Given the description of an element on the screen output the (x, y) to click on. 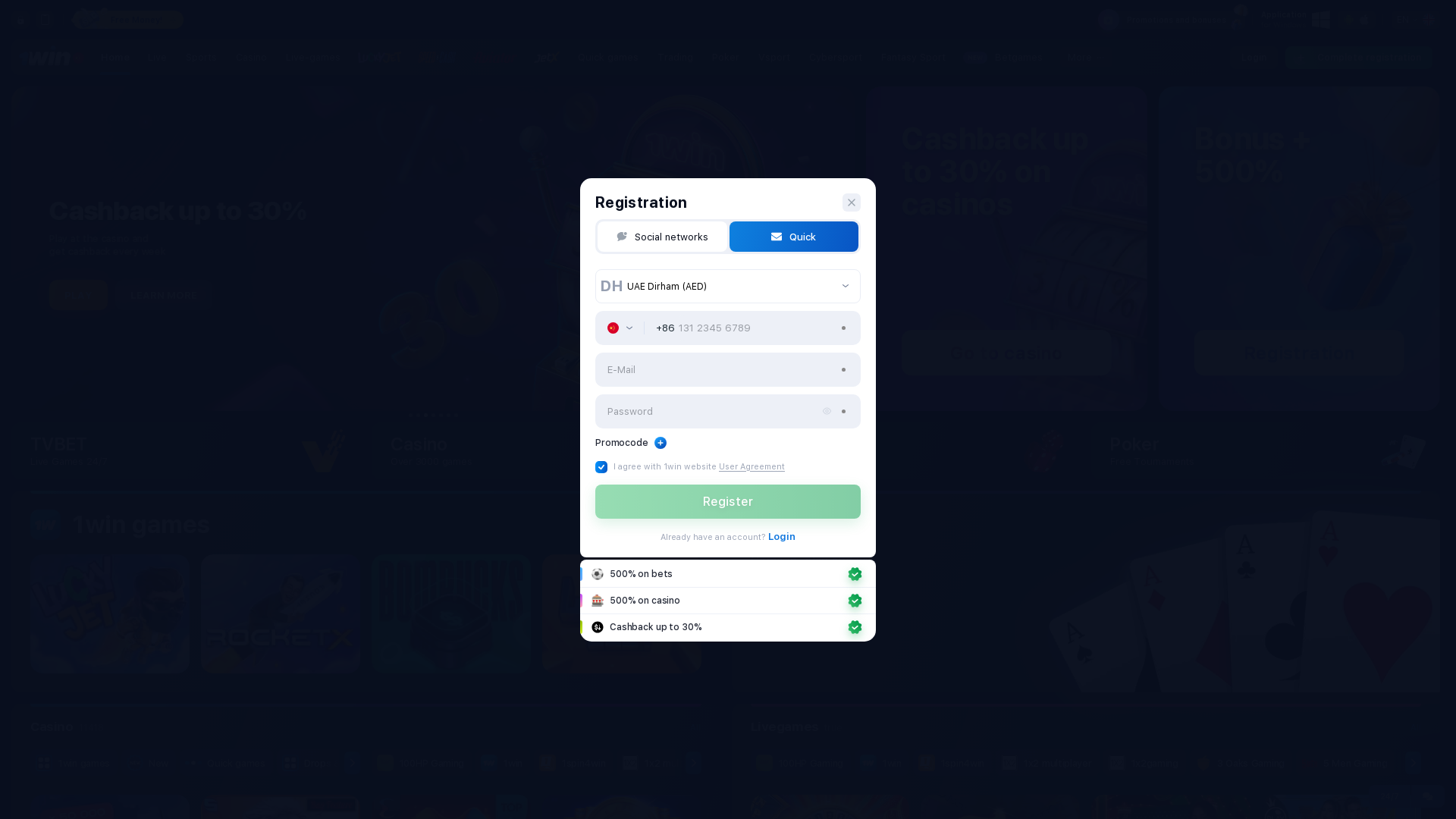
Alg Element type: text (1392, 762)
1spin4win Element type: text (572, 762)
Live Element type: text (157, 57)
5 Men Gaming Element type: text (1344, 762)
Register Element type: text (727, 500)
5 Men Gaming Element type: text (965, 762)
User Agreement Element type: text (751, 465)
Fantasy Sport Element type: text (912, 57)
1x2 multiplayer Element type: text (668, 762)
Sports Element type: text (201, 57)
7Mojos Live Element type: text (1161, 762)
Go to casino Element type: text (979, 346)
Only on 1win Element type: text (653, 762)
Live-Games
Live dealers Element type: text (905, 450)
100HP Gaming Element type: text (800, 762)
1x2 multiplayer Element type: text (1047, 762)
100HP Gaming Element type: text (421, 762)
Jackpots Element type: text (414, 762)
Roulette Element type: text (1201, 762)
NEW
Betgames Element type: text (1003, 57)
Live Casino Element type: text (561, 762)
24/7 Element type: text (1389, 795)
Quick games Element type: text (607, 57)
TVBET
Live Games 24/7 Element type: text (185, 450)
Poker Element type: text (725, 57)
Complete registration Element type: text (1358, 56)
Poker
Free Tournaments Element type: text (1265, 450)
1x2gaming Element type: text (765, 762)
Promocode Element type: text (630, 441)
Cybersport Element type: text (835, 57)
1win Element type: text (881, 762)
Quick games Element type: text (226, 762)
AGT Element type: text (1335, 762)
Casino Element type: text (251, 57)
1spin4win Element type: text (952, 762)
Poker
Come in, play and win
Get bonus Element type: text (1085, 591)
Registration Element type: text (1272, 346)
3 Oaks Gaming Element type: text (861, 762)
Top games Element type: text (744, 762)
7777 Gaming Element type: text (1066, 762)
Home Element type: text (115, 57)
3 Oaks Gaming Element type: text (1240, 762)
Login Element type: text (781, 535)
EN Element type: text (1415, 19)
1win games Element type: text (73, 762)
Vsport Element type: text (773, 57)
Login Element type: text (1253, 56)
Live-games Element type: text (312, 57)
New Element type: text (148, 762)
1x2gaming Element type: text (1144, 762)
Bonus buy Element type: text (981, 762)
Drops & Wins Element type: text (324, 762)
7Mojos Slots Element type: text (1257, 762)
Slots Element type: text (485, 762)
Free Money! Element type: text (127, 19)
1win Element type: text (502, 762)
Trading Element type: text (675, 57)
